Given the description of an element on the screen output the (x, y) to click on. 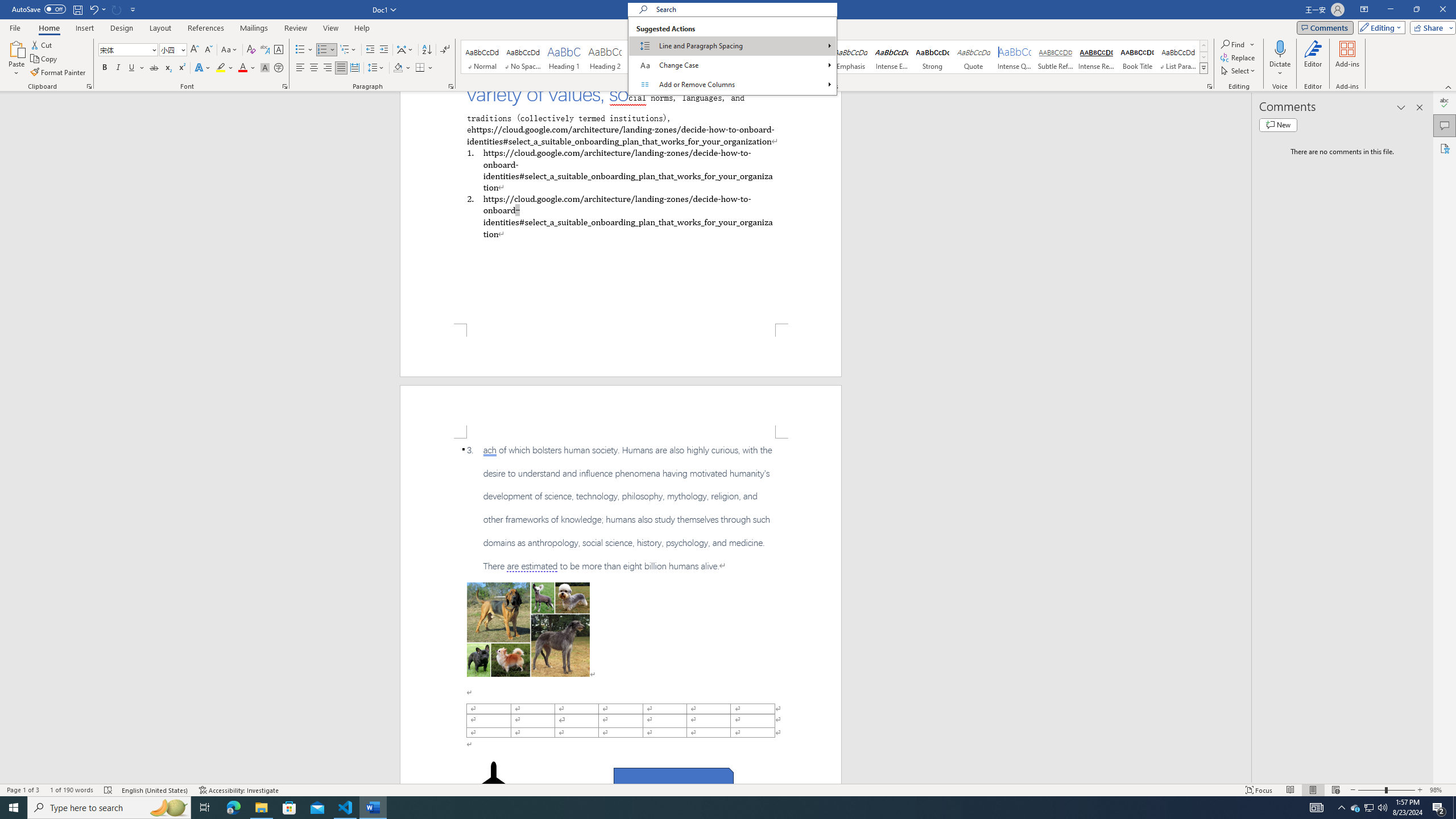
More Options (1280, 68)
Align Right (327, 67)
Text Highlight Color Yellow (220, 67)
Change Case (229, 49)
Font Size (172, 49)
Intense Quote (1014, 56)
System (6, 6)
Page 1 content (620, 207)
New comment (1278, 124)
Select (1238, 69)
Copy (45, 58)
AutomationID: QuickStylesGallery (834, 56)
View (330, 28)
